Given the description of an element on the screen output the (x, y) to click on. 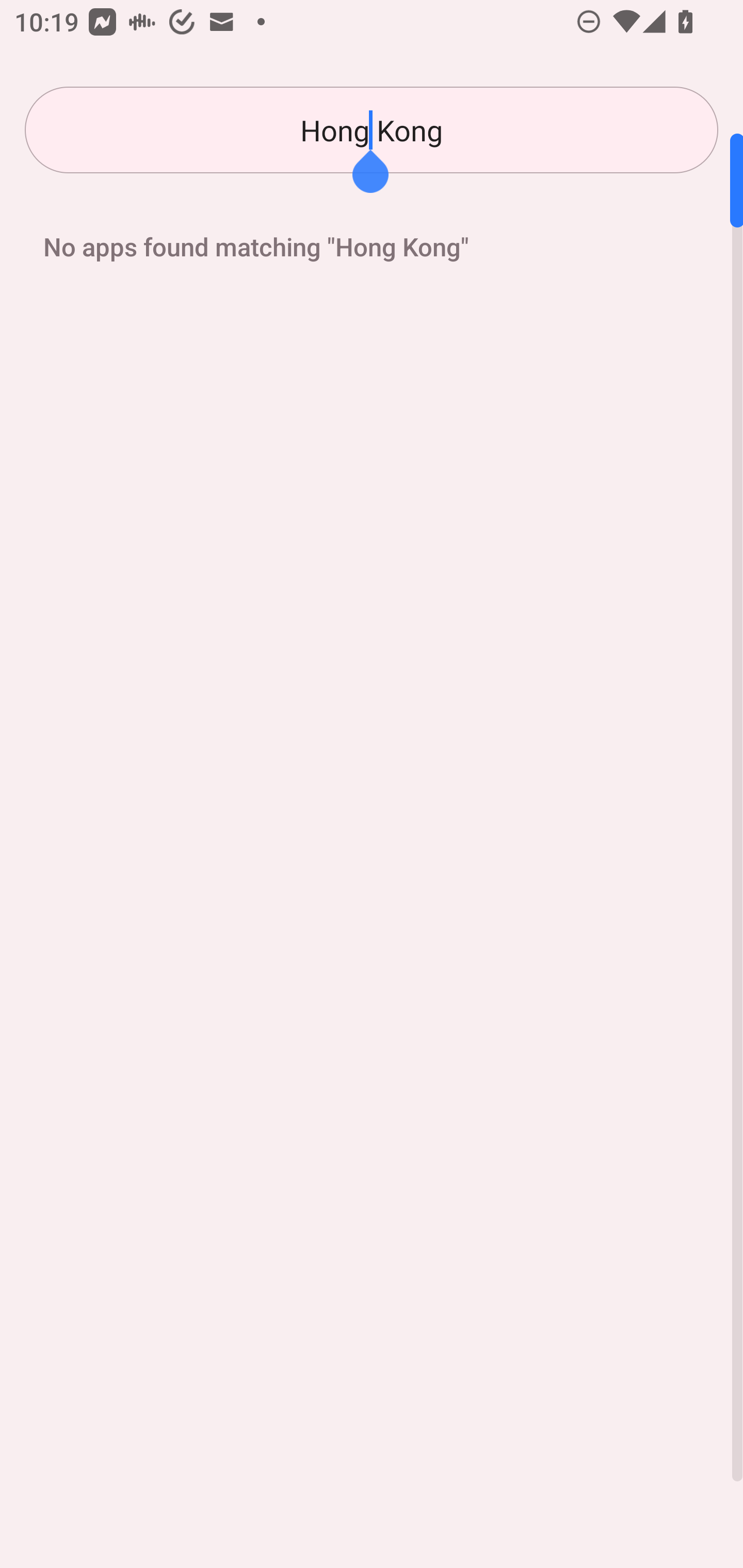
Hong Kong (371, 130)
